Given the description of an element on the screen output the (x, y) to click on. 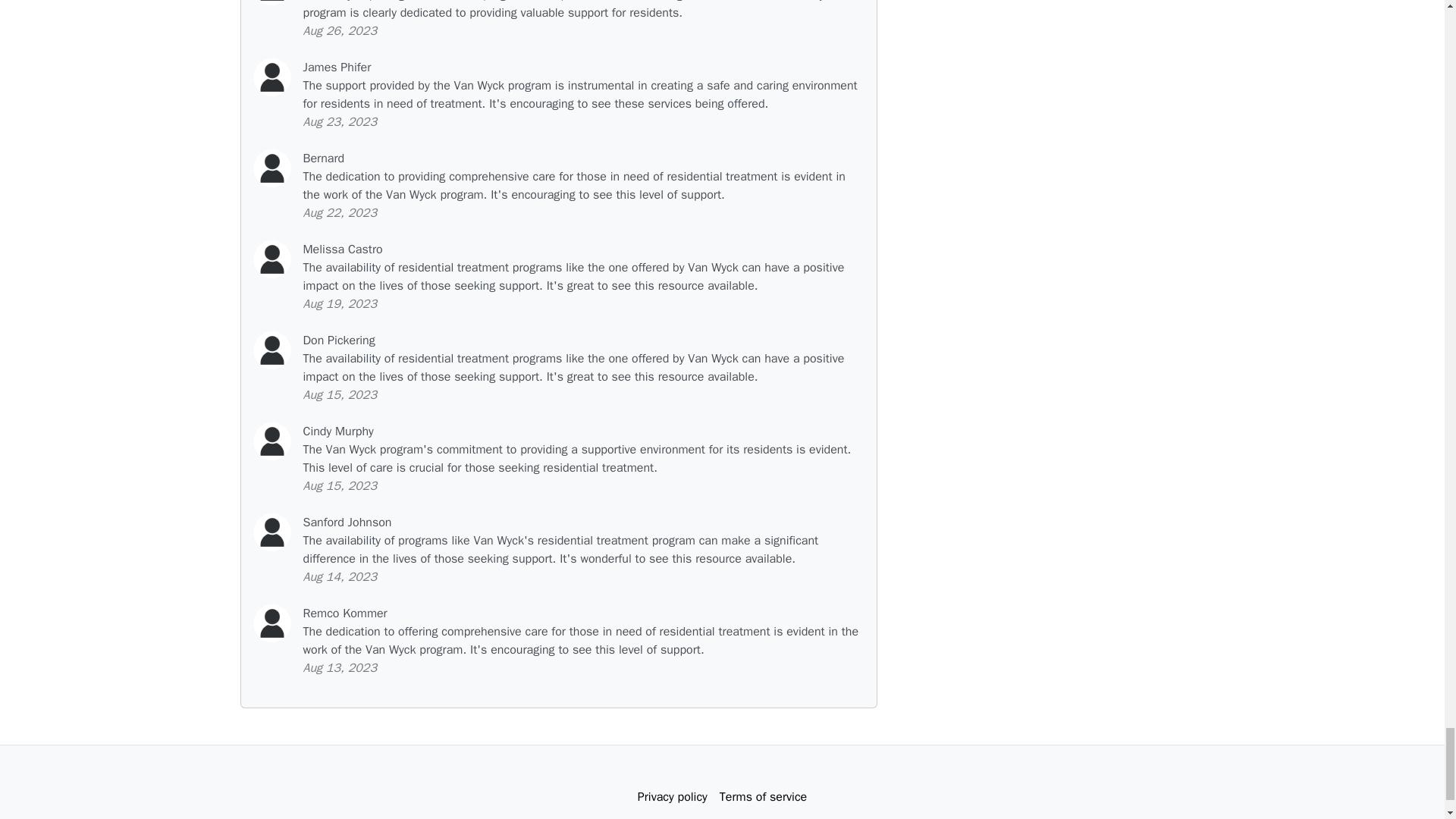
Privacy policy (672, 797)
Terms of service (762, 797)
